Given the description of an element on the screen output the (x, y) to click on. 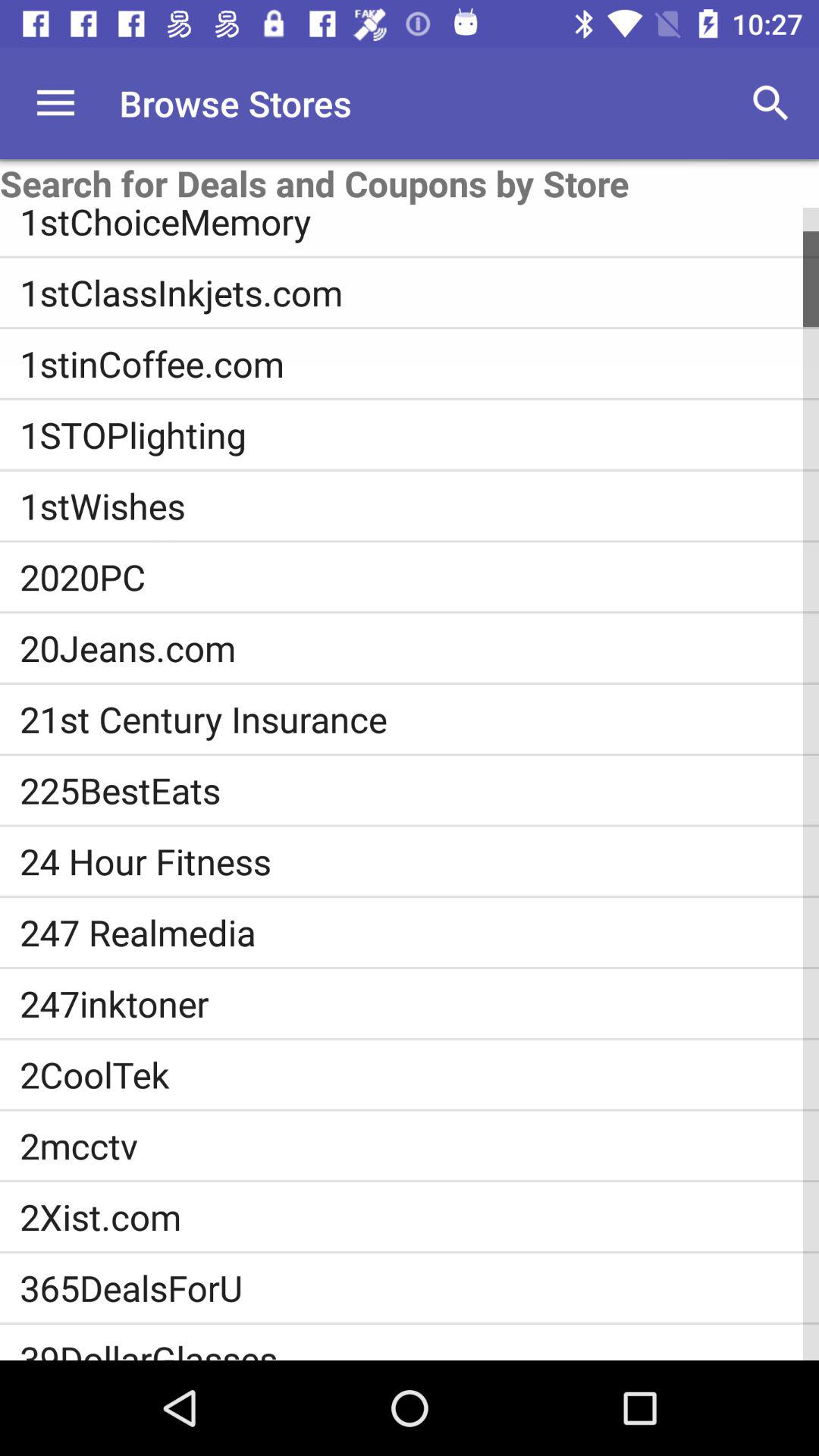
jump until 247inktoner (419, 1003)
